Given the description of an element on the screen output the (x, y) to click on. 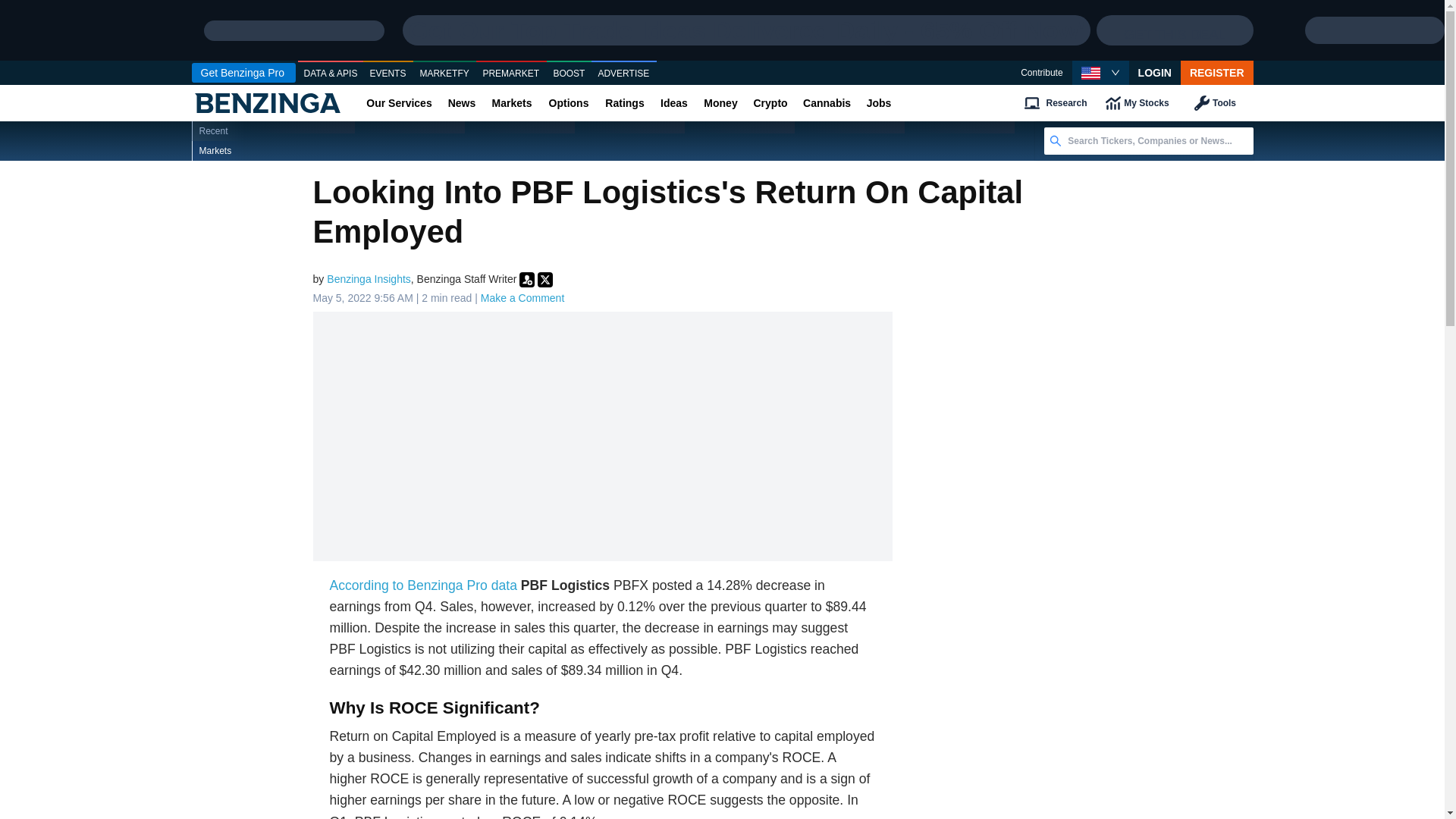
Our Services (398, 103)
LOGIN (1154, 72)
ADVERTISE (623, 73)
Get Benzinga Pro (242, 72)
USA (1090, 72)
Our Services (398, 103)
REGISTER (1216, 72)
GET THIS DEAL (1174, 30)
News (461, 103)
MARKETFY (444, 73)
